Given the description of an element on the screen output the (x, y) to click on. 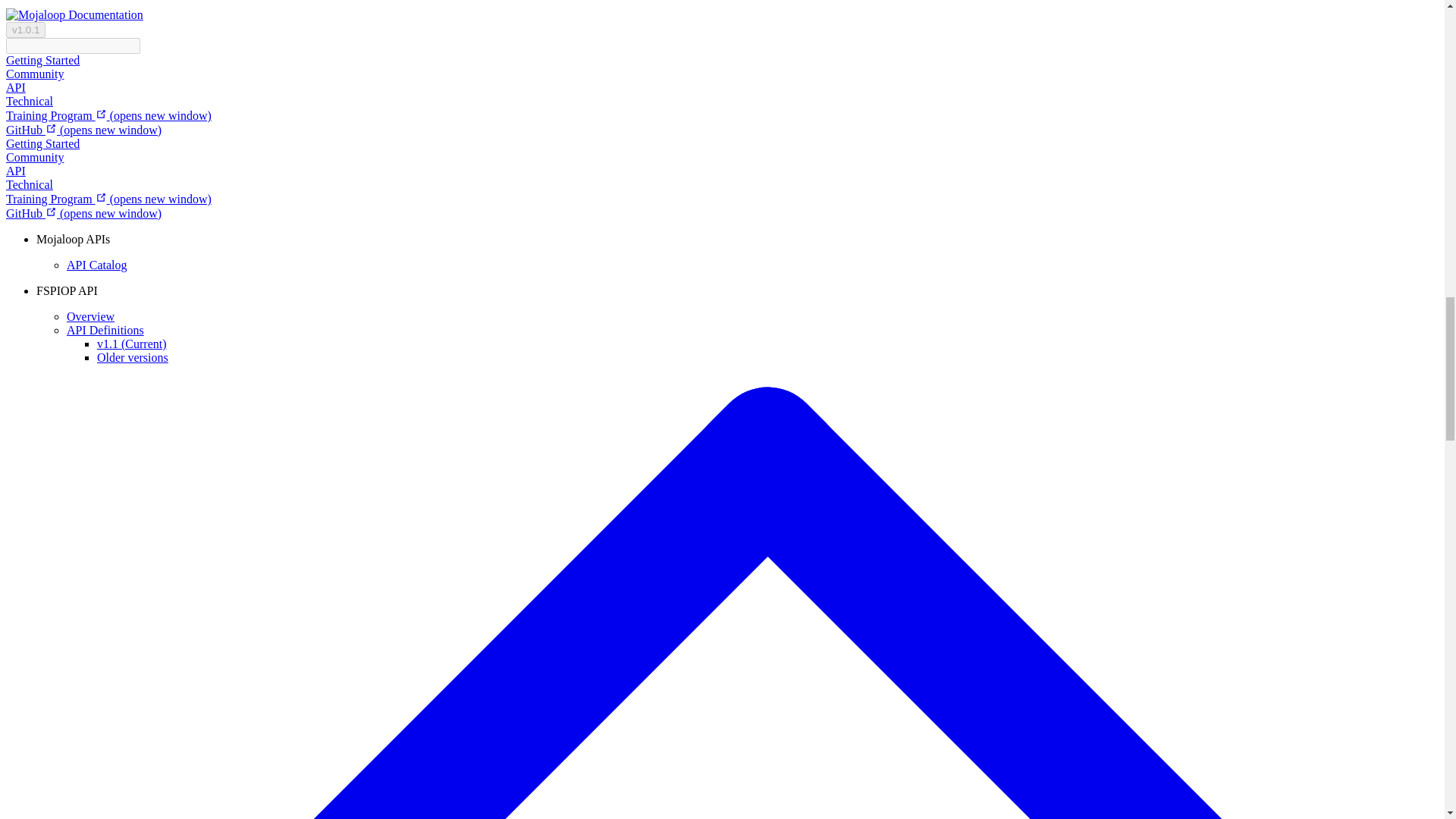
Technical (28, 184)
API Definitions (105, 329)
API (15, 170)
Community (34, 156)
Getting Started (42, 60)
Community (34, 73)
Technical (28, 101)
API (15, 87)
API Catalog (97, 264)
Overview (90, 316)
Getting Started (42, 143)
v1.0.1 (25, 29)
